Given the description of an element on the screen output the (x, y) to click on. 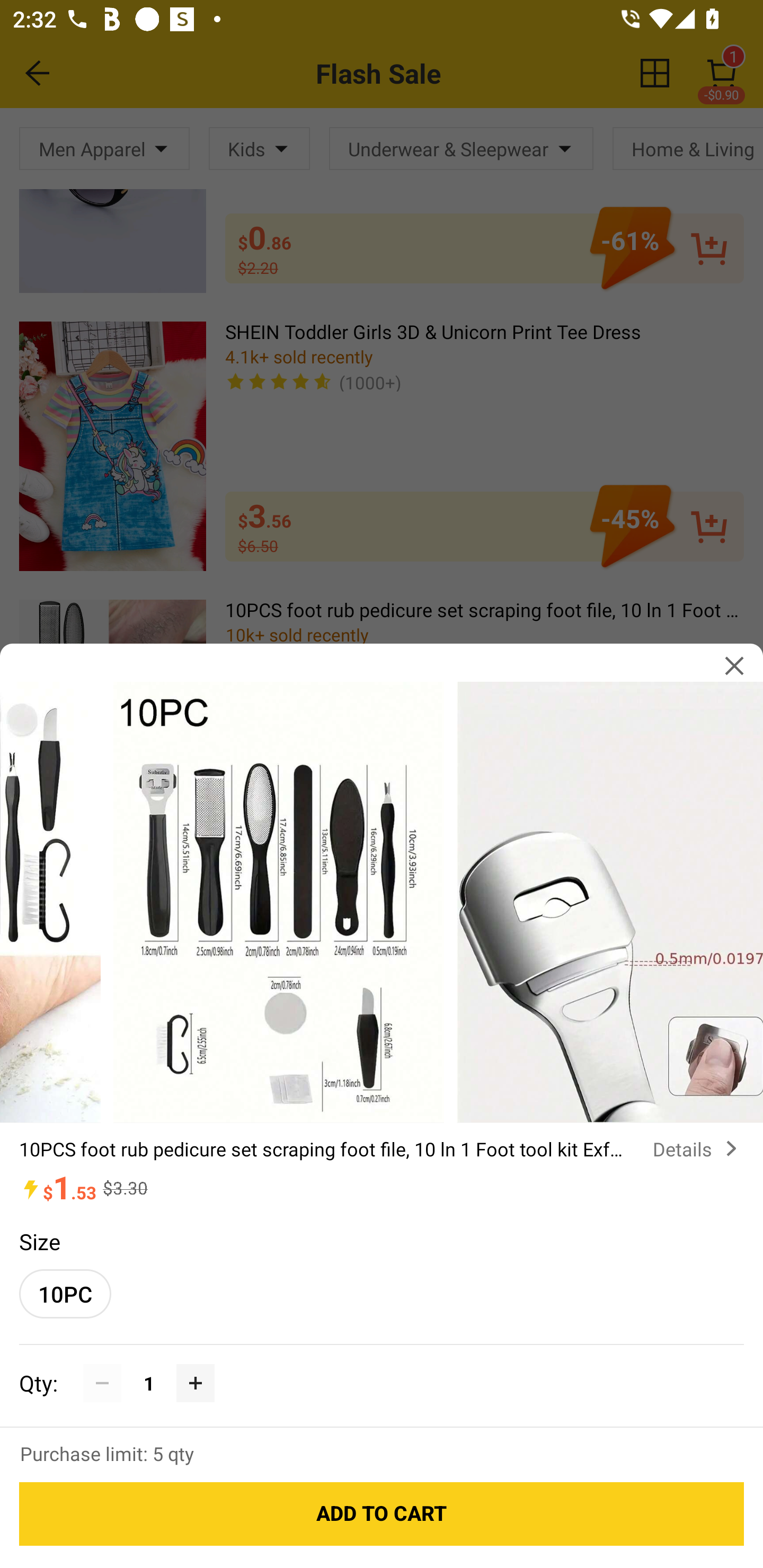
Details (698, 1148)
Size (39, 1240)
10PC 10PCunselected option (65, 1293)
ADD TO CART (381, 1513)
